Given the description of an element on the screen output the (x, y) to click on. 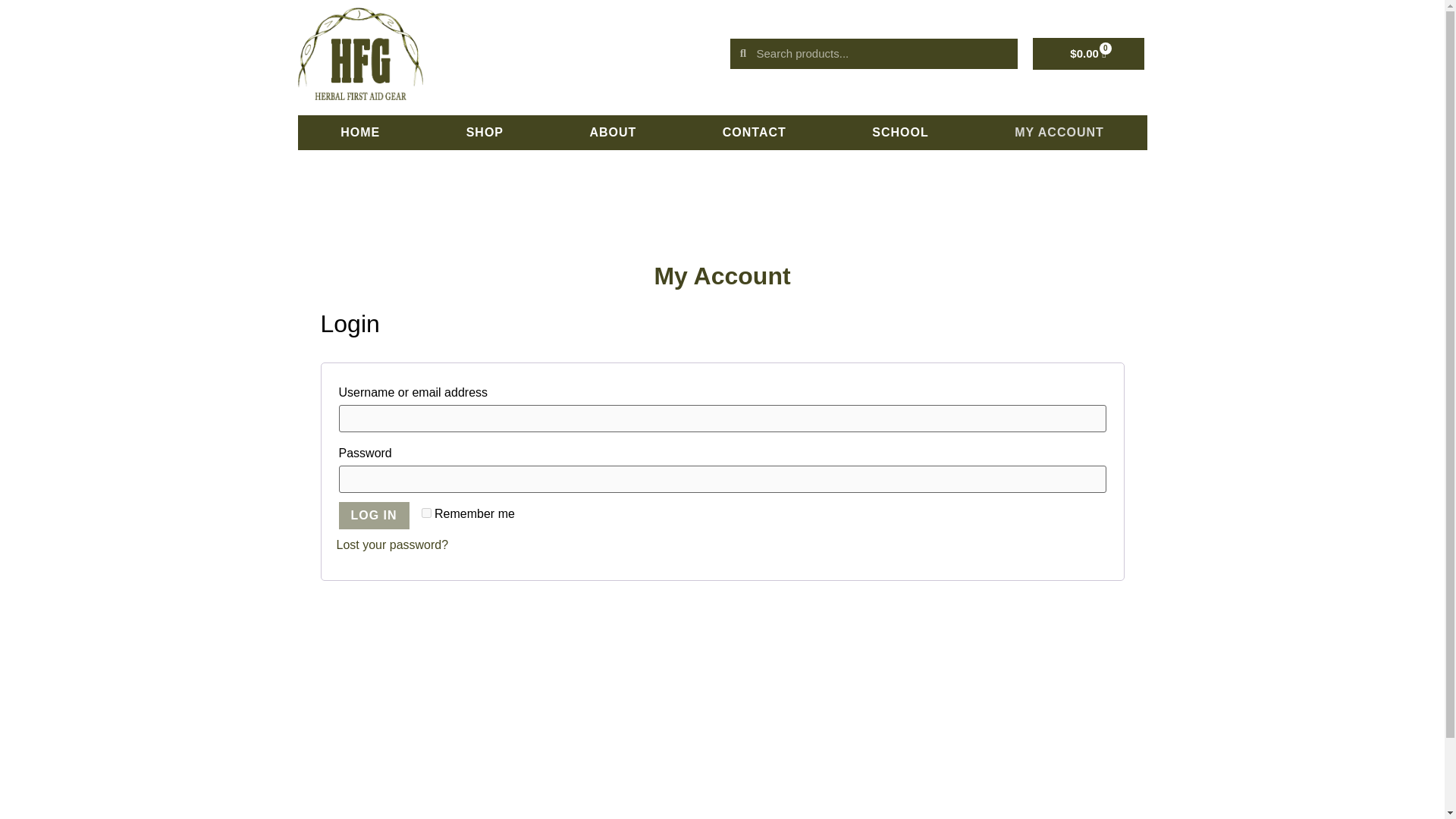
ABOUT (613, 132)
CONTACT (753, 132)
SCHOOL (900, 132)
HOME (359, 132)
LOG IN (373, 515)
forever (426, 512)
MY ACCOUNT (1059, 132)
SHOP (485, 132)
Lost your password? (392, 544)
